Given the description of an element on the screen output the (x, y) to click on. 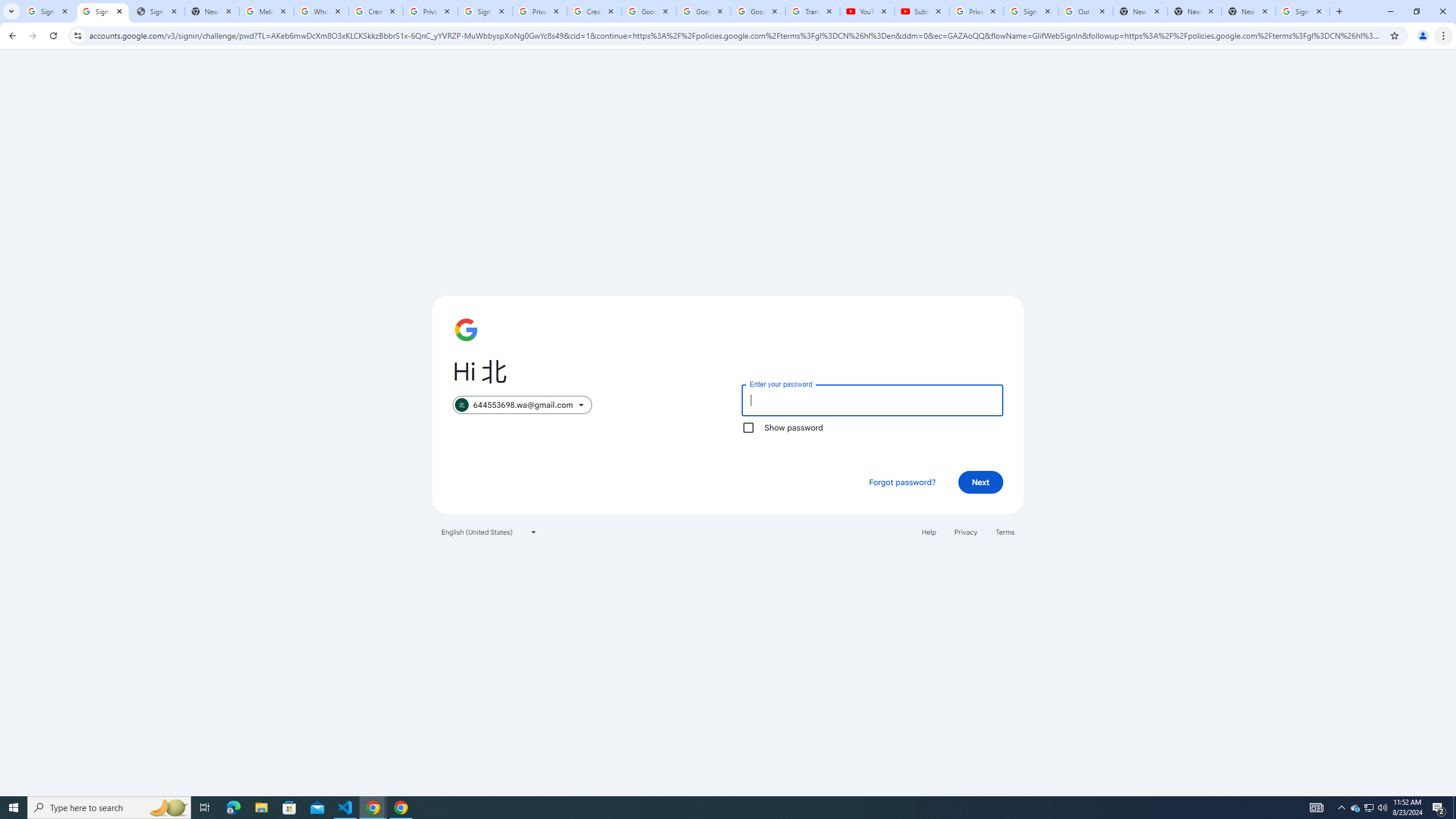
Create your Google Account (375, 11)
Google Account (757, 11)
Who is my administrator? - Google Account Help (320, 11)
Sign in - Google Accounts (1030, 11)
Sign in - Google Accounts (1303, 11)
Sign in - Google Accounts (48, 11)
